Given the description of an element on the screen output the (x, y) to click on. 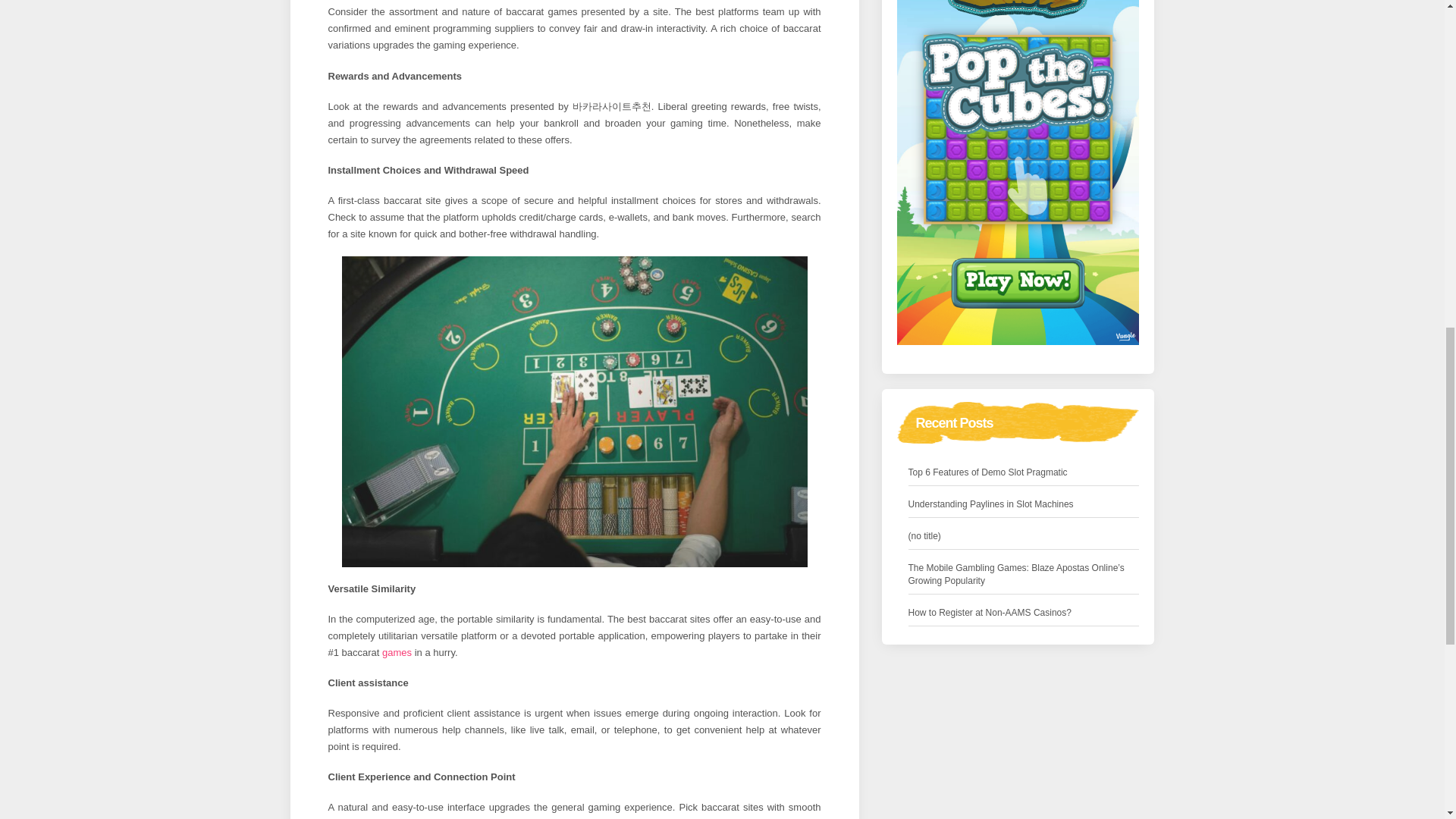
How to Register at Non-AAMS Casinos? (989, 612)
Top 6 Features of Demo Slot Pragmatic (987, 472)
Understanding Paylines in Slot Machines (991, 504)
games (396, 652)
